Given the description of an element on the screen output the (x, y) to click on. 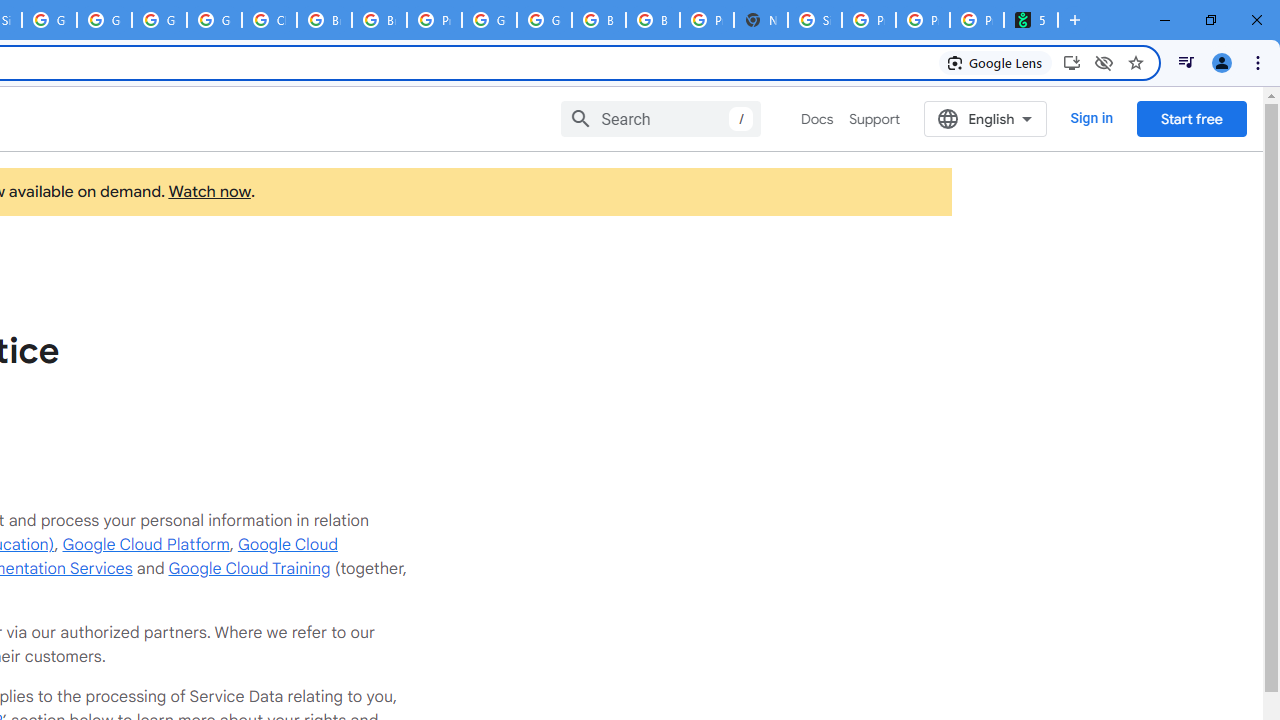
Browse Chrome as a guest - Computer - Google Chrome Help (324, 20)
Google Cloud Platform (489, 20)
Google Cloud Platform (544, 20)
Support (874, 119)
English (985, 118)
Watch now (208, 192)
Docs (817, 119)
